Given the description of an element on the screen output the (x, y) to click on. 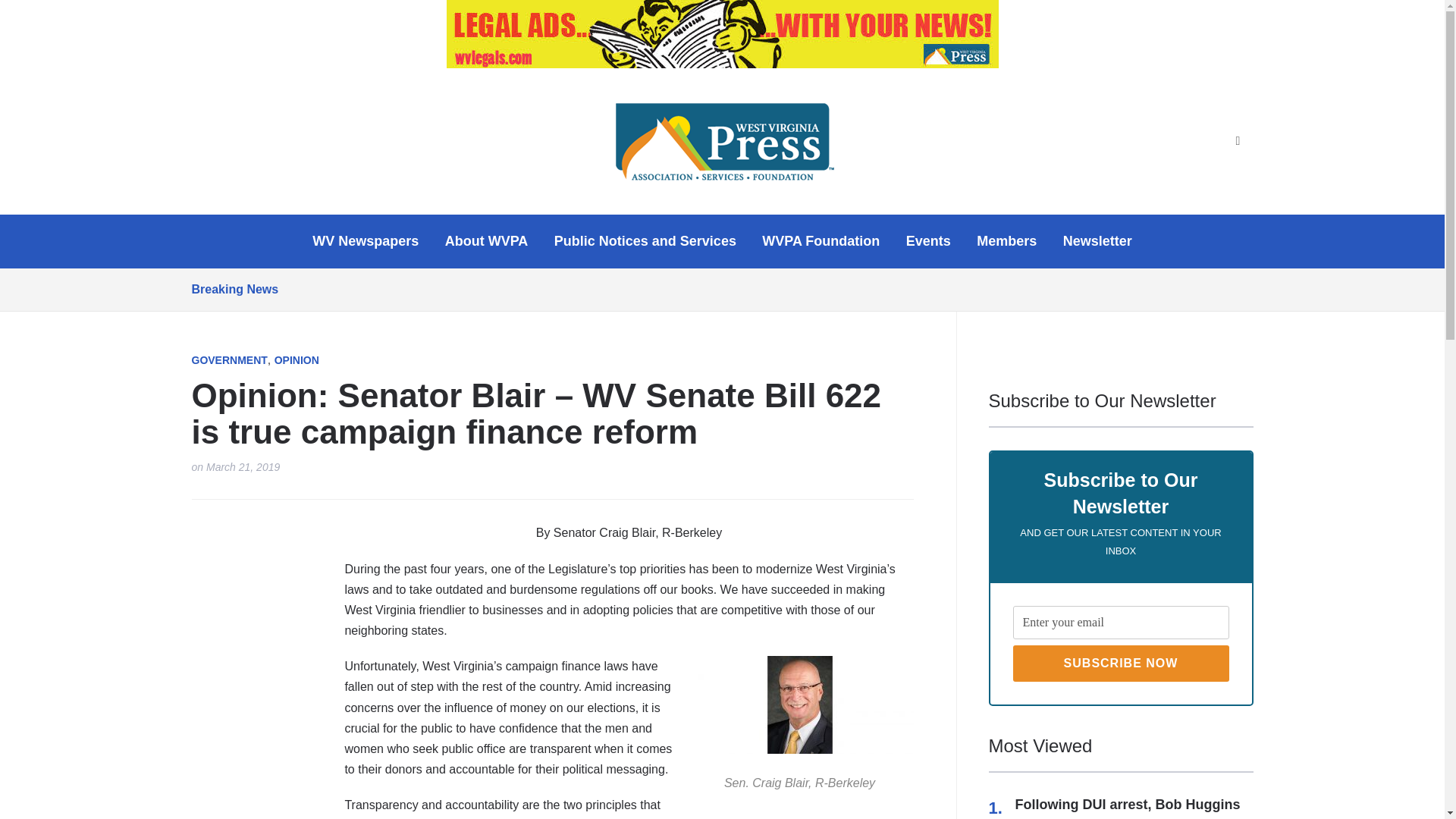
Public Notices and Services (645, 241)
Search (1237, 141)
Subscribe Now (1120, 663)
WV Newspapers (366, 241)
About WVPA (486, 241)
